Given the description of an element on the screen output the (x, y) to click on. 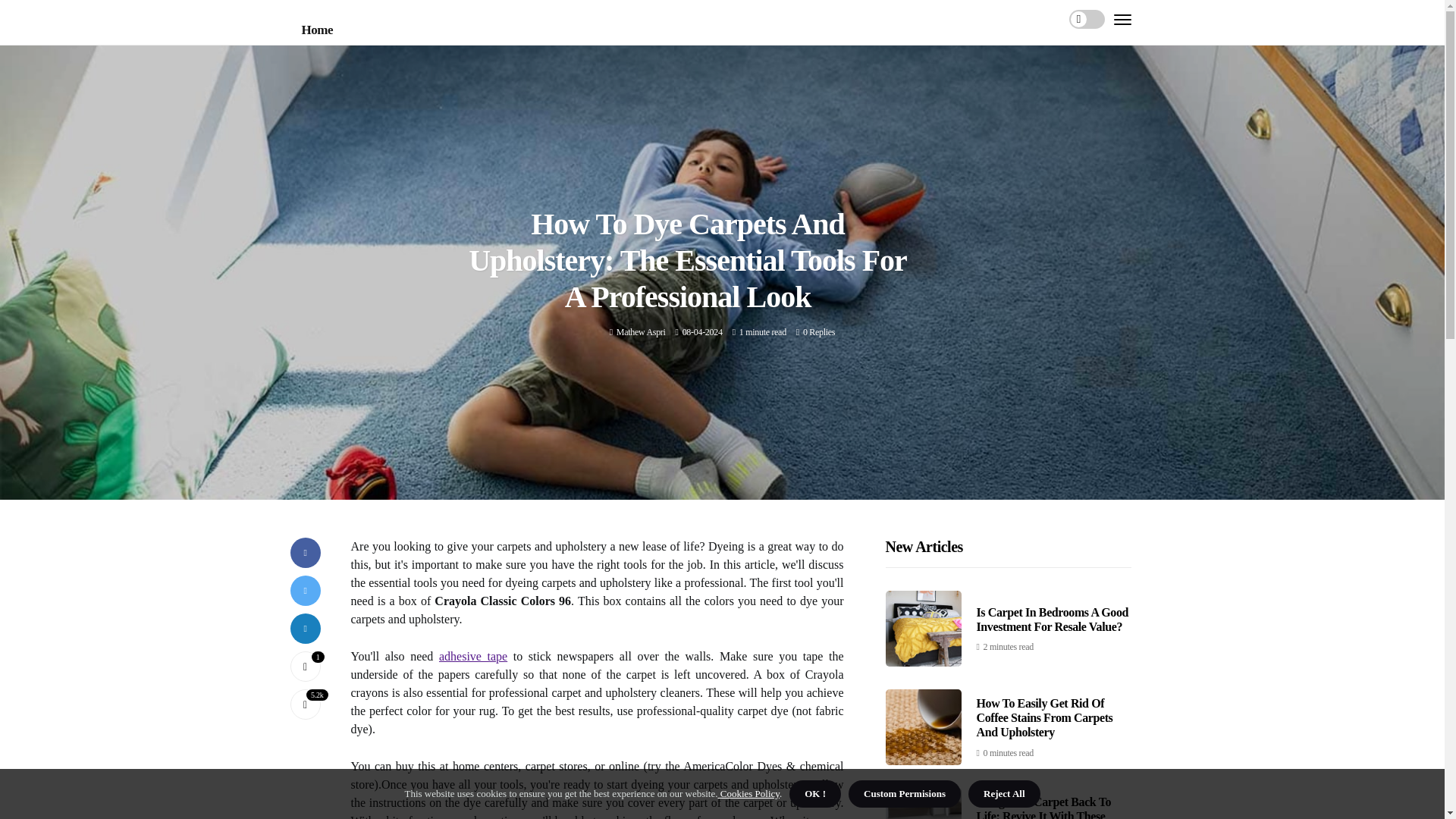
1 (304, 666)
Posts by Mathew Aspri (640, 331)
Like (304, 666)
0 Replies (818, 331)
adhesive tape (472, 656)
Is Carpet In Bedrooms A Good Investment For Resale Value? (1052, 619)
Mathew Aspri (640, 331)
